Given the description of an element on the screen output the (x, y) to click on. 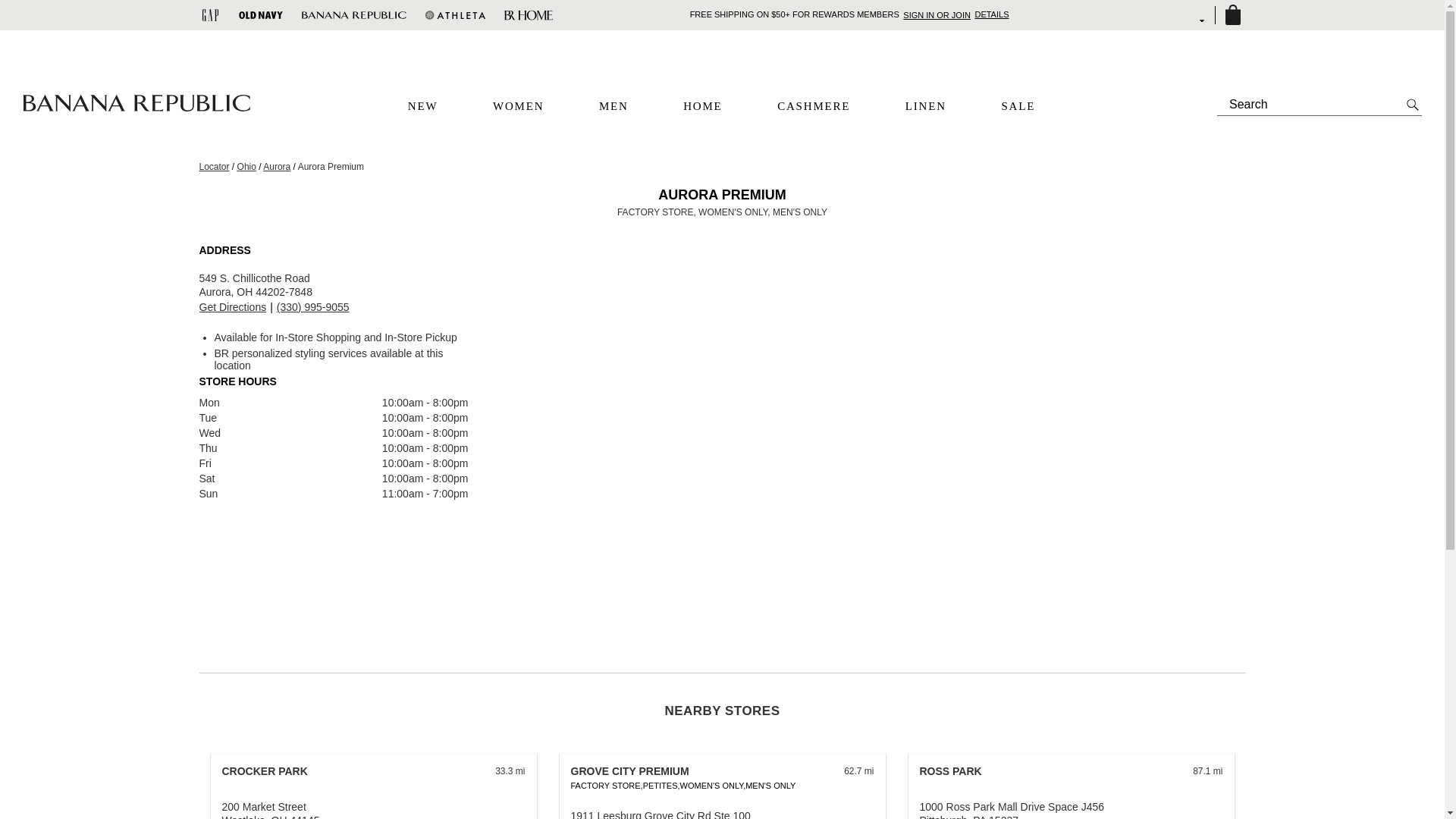
LINEN (925, 106)
View Details for the Aurora Premium store (232, 307)
View Details for the ROSS PARK store (949, 770)
View Details for the GROVE CITY PREMIUM store (629, 770)
Get Directions (232, 307)
DETAILS (991, 13)
Bag (1232, 15)
Ohio (246, 166)
